Given the description of an element on the screen output the (x, y) to click on. 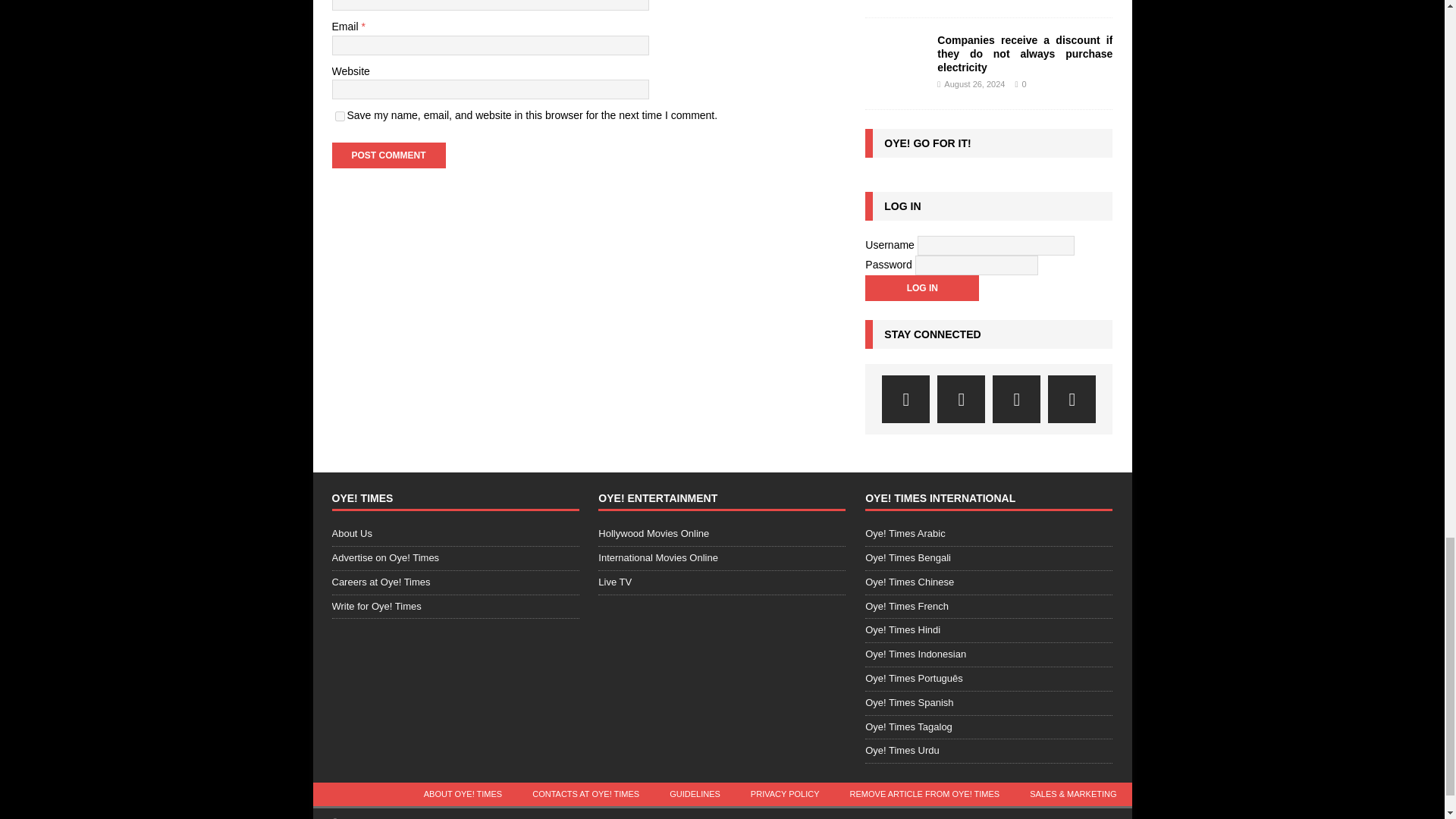
Log In (921, 288)
Post Comment (388, 155)
yes (339, 116)
